Given the description of an element on the screen output the (x, y) to click on. 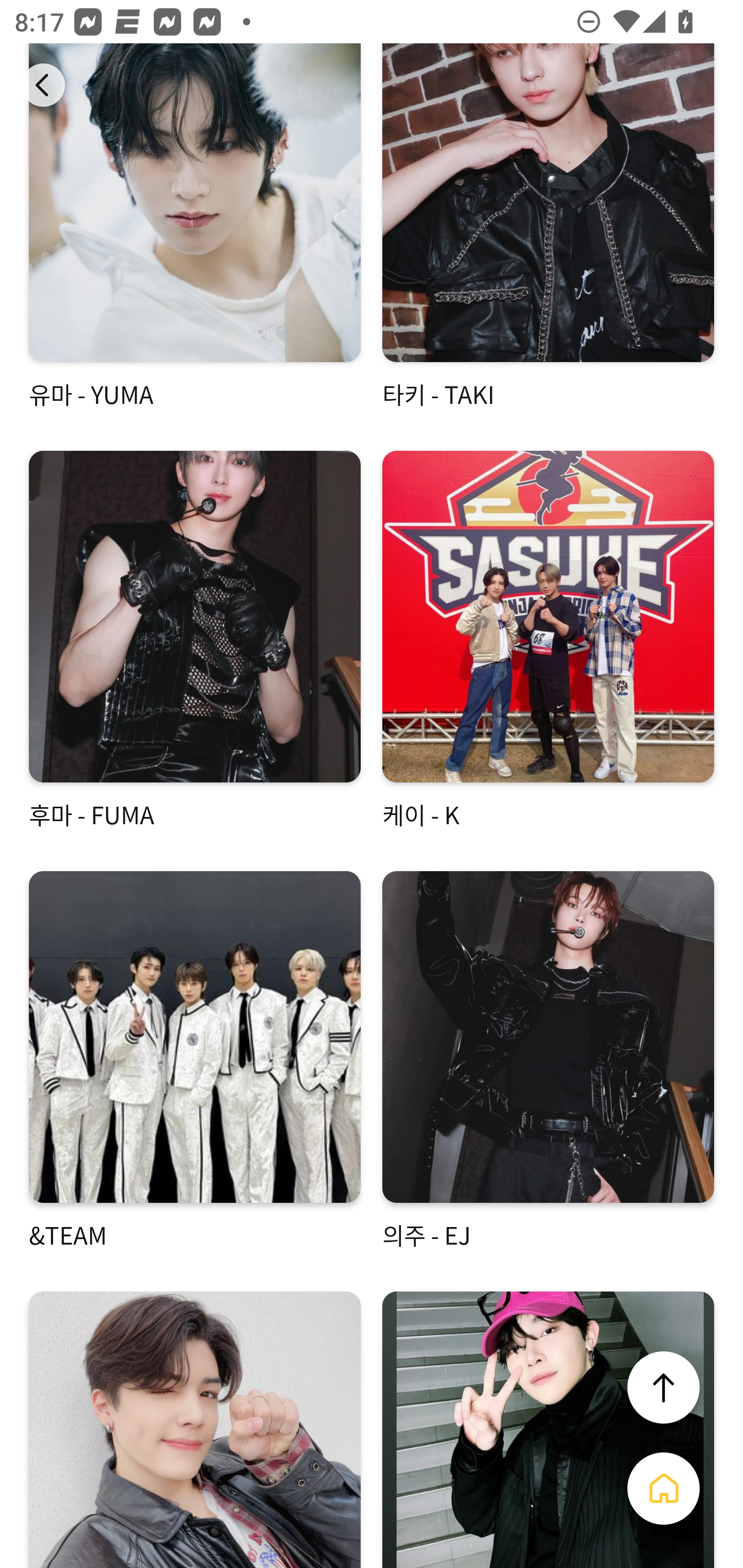
유마  -  YUMA (194, 226)
타키  -  TAKI (548, 226)
후마  -  FUMA (194, 641)
케이  -  K (548, 641)
&TEAM (194, 1061)
의주  -  EJ (548, 1061)
